Given the description of an element on the screen output the (x, y) to click on. 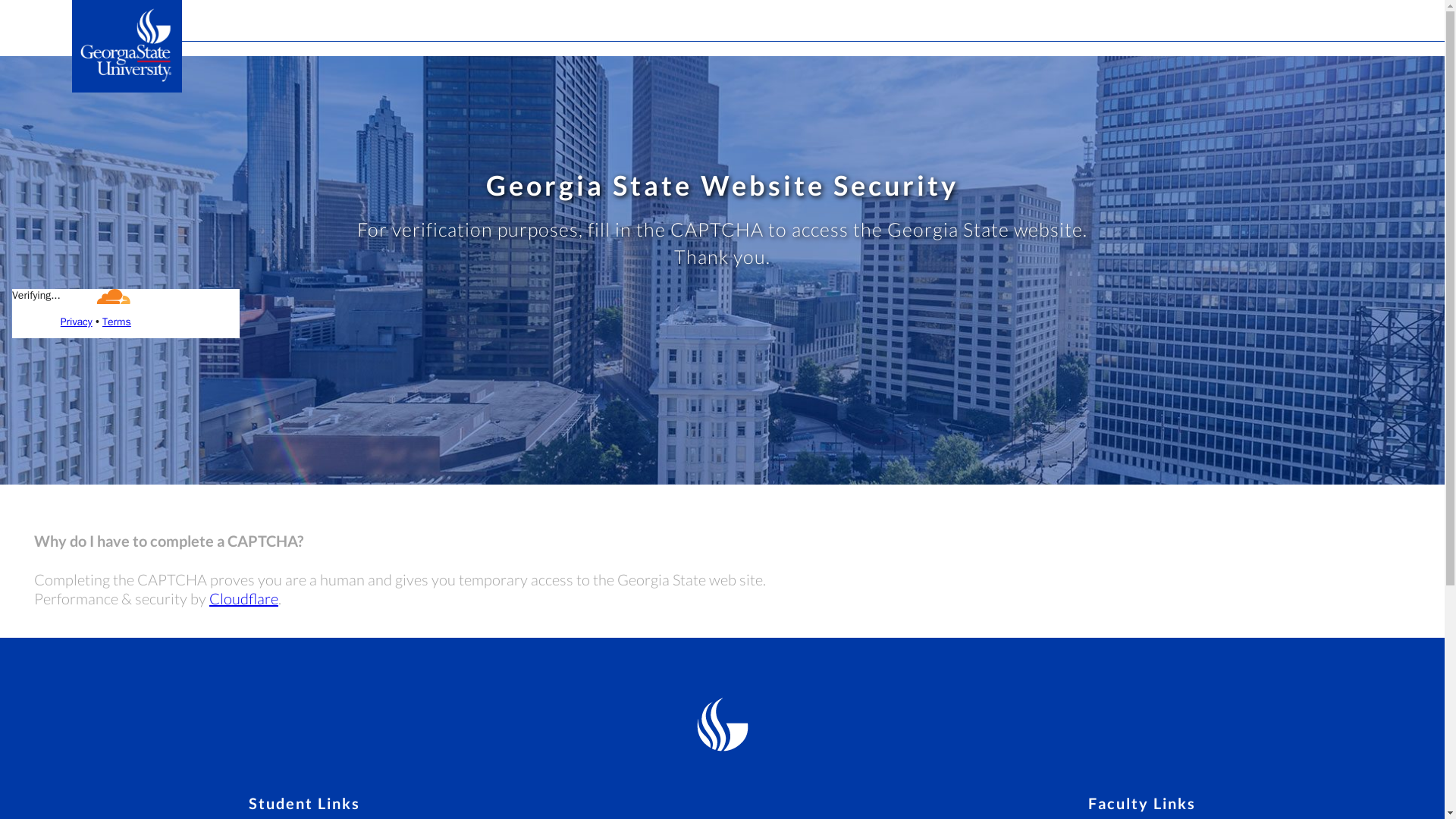
Cloudflare (243, 597)
